Given the description of an element on the screen output the (x, y) to click on. 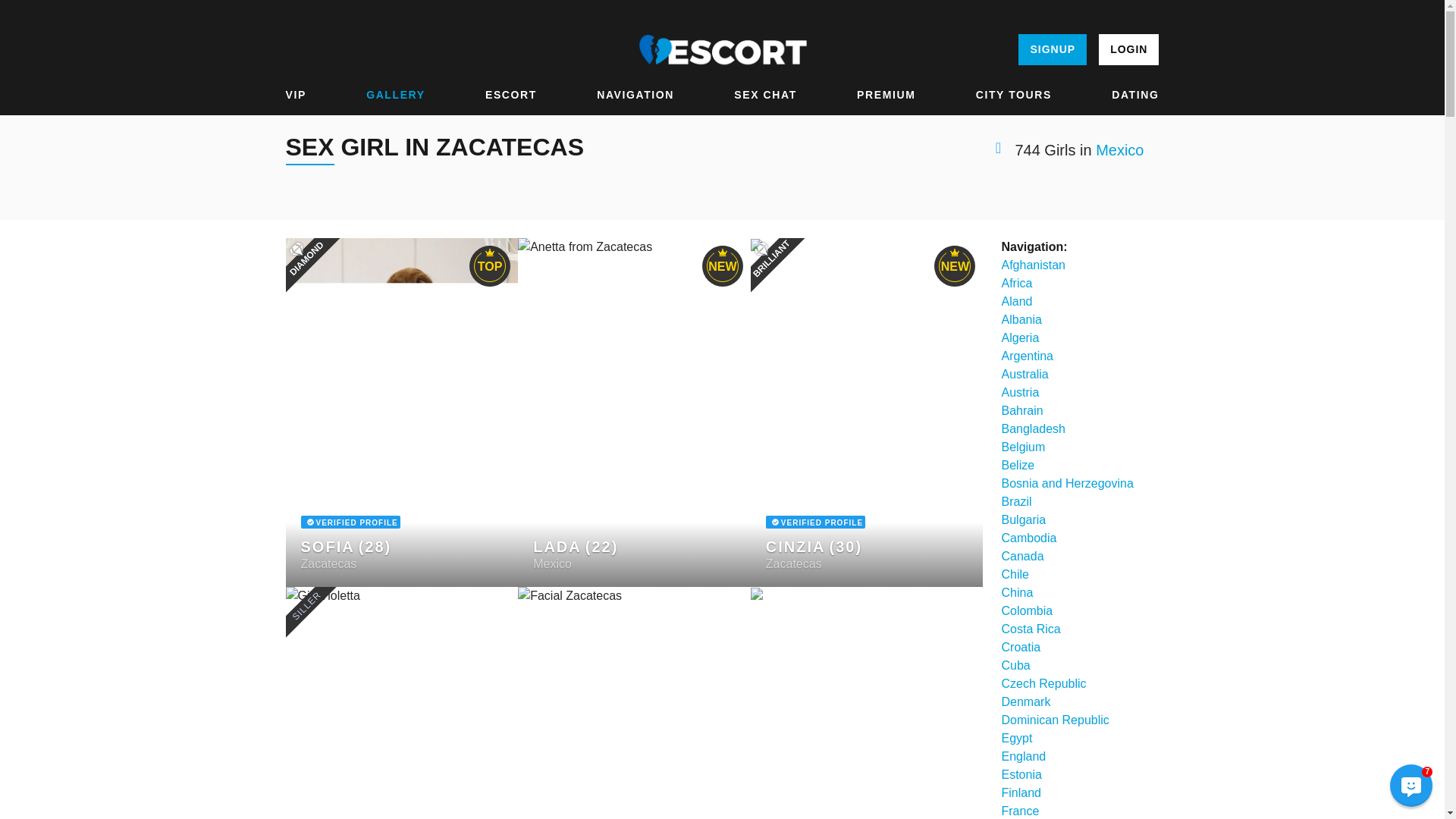
ESCORT (510, 94)
GALLERY (395, 94)
VIP (295, 94)
LOGIN (1128, 49)
CITY TOURS (1013, 94)
PREMIUM (886, 94)
Mexico (1119, 149)
NAVIGATION (635, 94)
SEX CHAT (764, 94)
DATING (1135, 94)
